Given the description of an element on the screen output the (x, y) to click on. 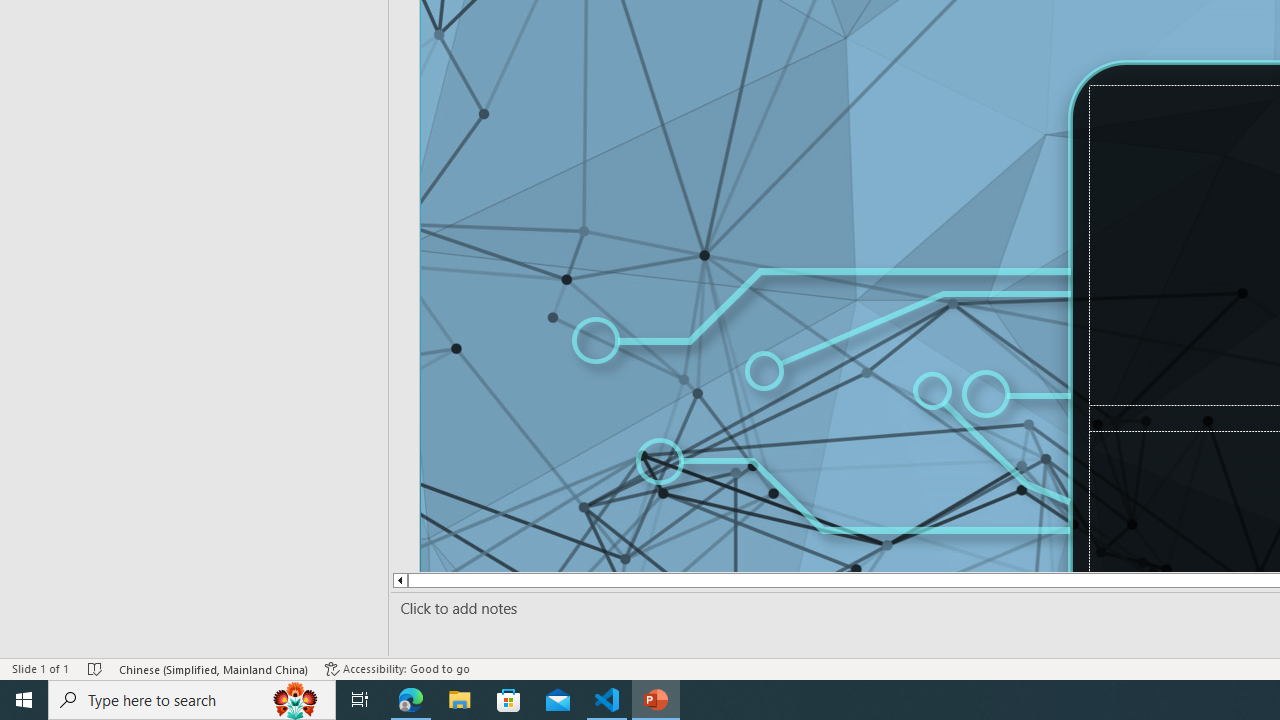
Decorative (1044, 402)
